Given the description of an element on the screen output the (x, y) to click on. 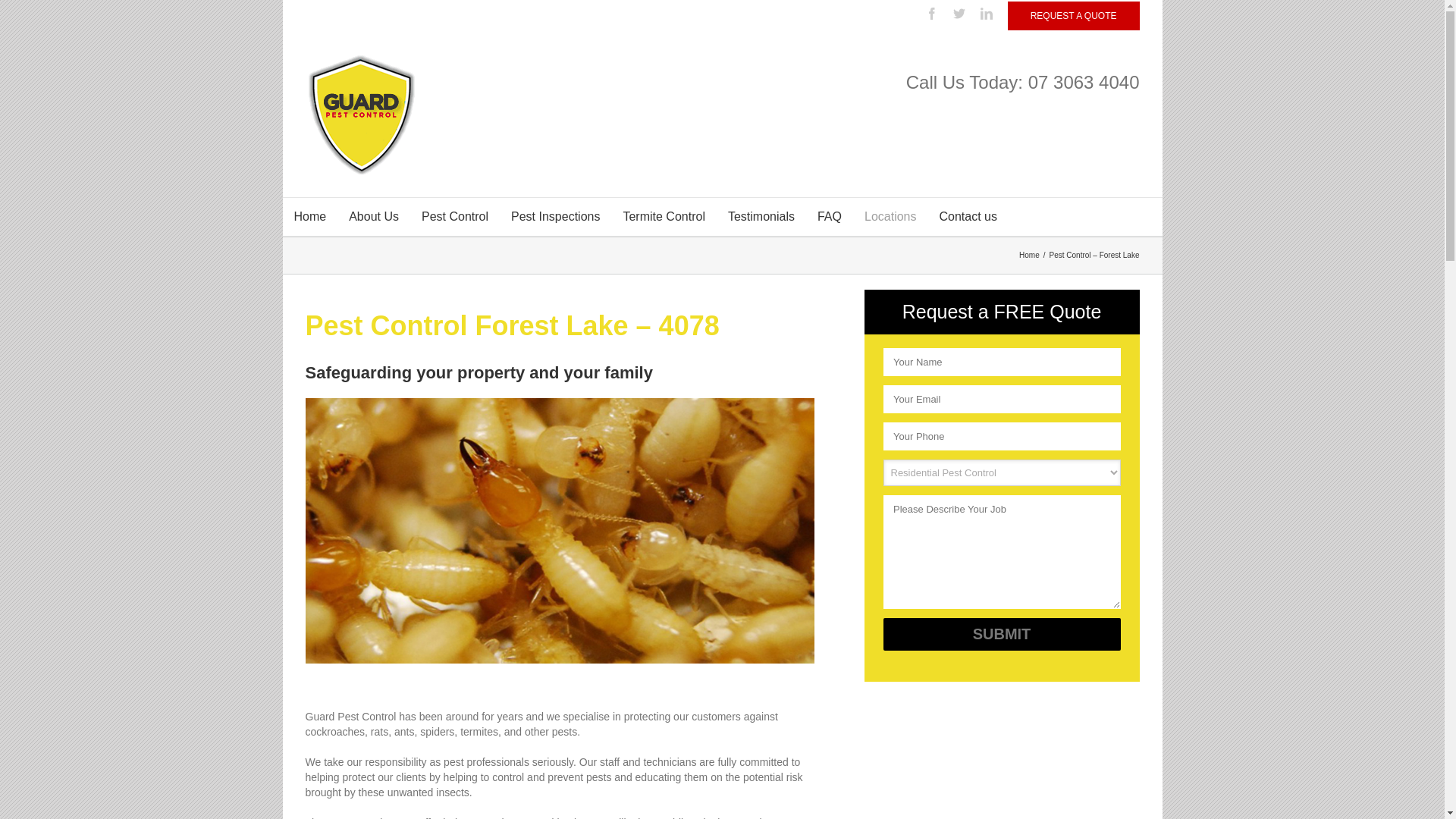
Contact us Element type: text (967, 216)
Twitter Element type: hover (959, 13)
Linkedin Element type: hover (986, 13)
Facebook Element type: hover (931, 13)
Home Element type: text (1031, 255)
SUBMIT Element type: text (1001, 634)
FAQ Element type: text (829, 216)
About Us Element type: text (373, 216)
REQUEST A QUOTE Element type: text (1073, 15)
Termite Control Element type: text (663, 216)
Pest Inspections Element type: text (555, 216)
Pest Control Element type: text (454, 216)
Testimonials Element type: text (761, 216)
Home Element type: text (309, 216)
Locations Element type: text (890, 216)
